Given the description of an element on the screen output the (x, y) to click on. 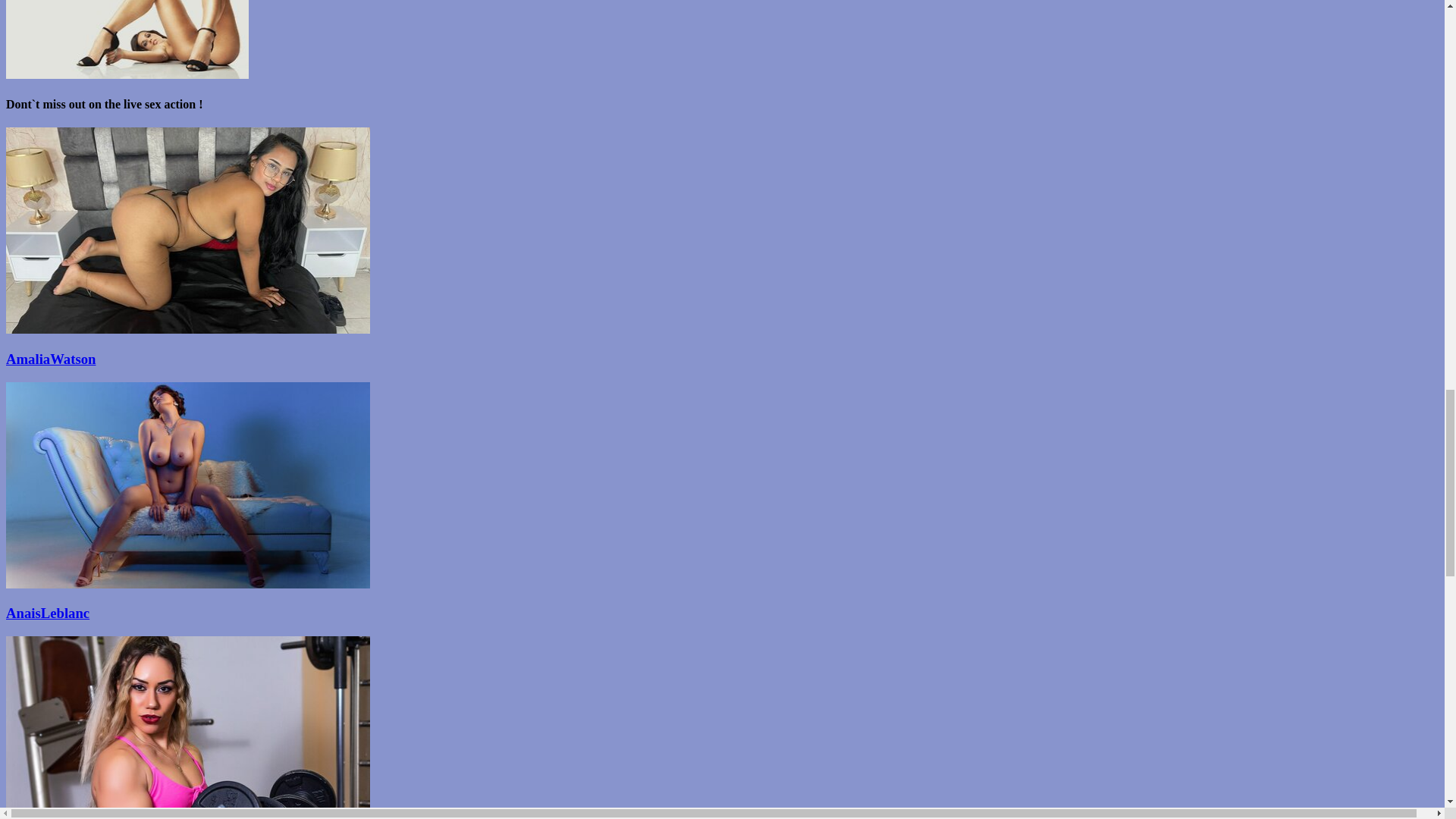
Recorded Nude Porn Live (721, 359)
Recorded Nude Porn Live (187, 328)
Recorded Nude Porn Live (721, 613)
AnaisLeblanc (721, 613)
AmaliaWatson (721, 359)
Recorded Nude Porn Live (187, 584)
